Given the description of an element on the screen output the (x, y) to click on. 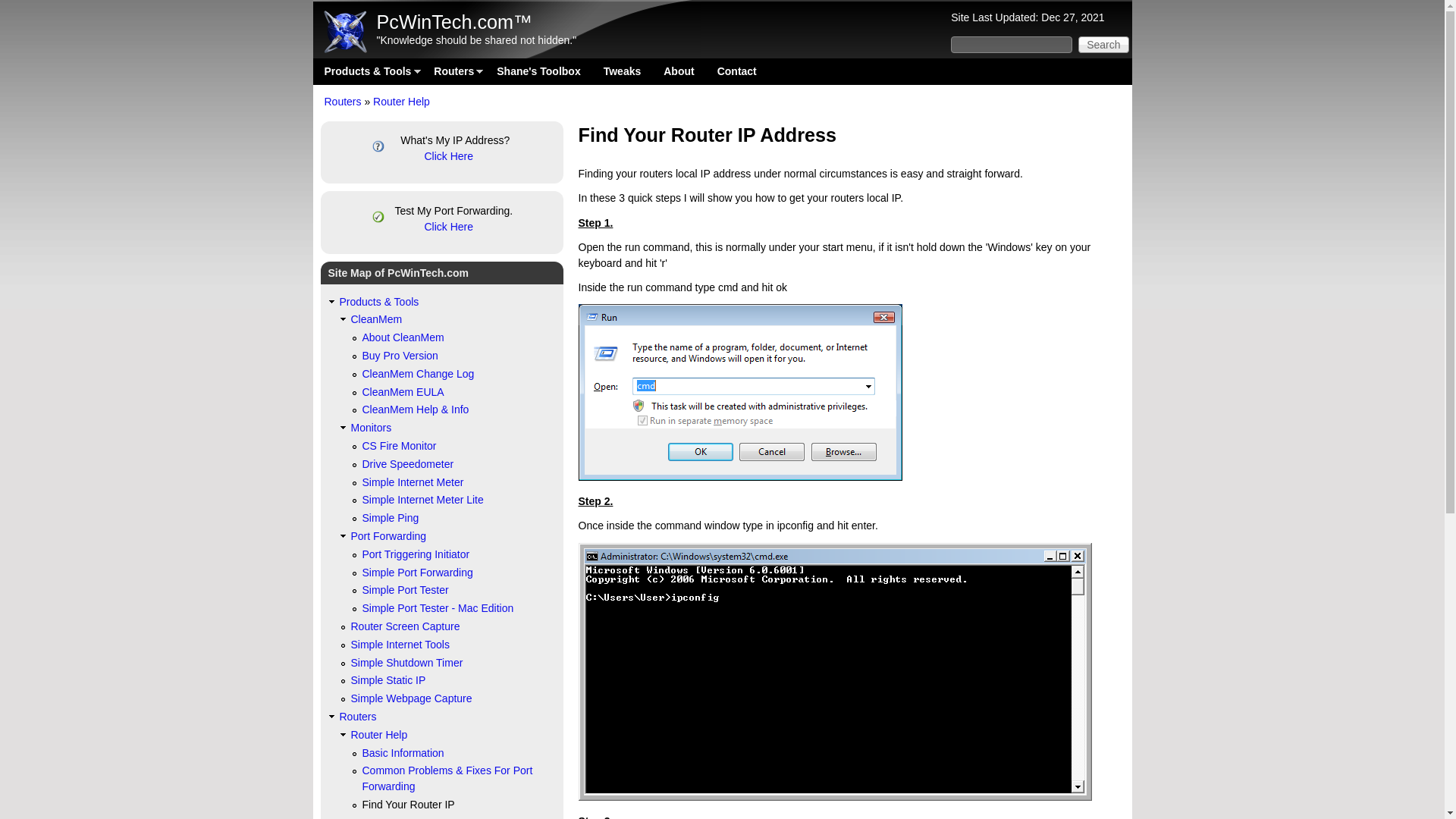
Home page (453, 21)
Search (1103, 44)
Tools (367, 71)
Enter the terms you wish to search for. (1010, 44)
Search (1103, 44)
